Given the description of an element on the screen output the (x, y) to click on. 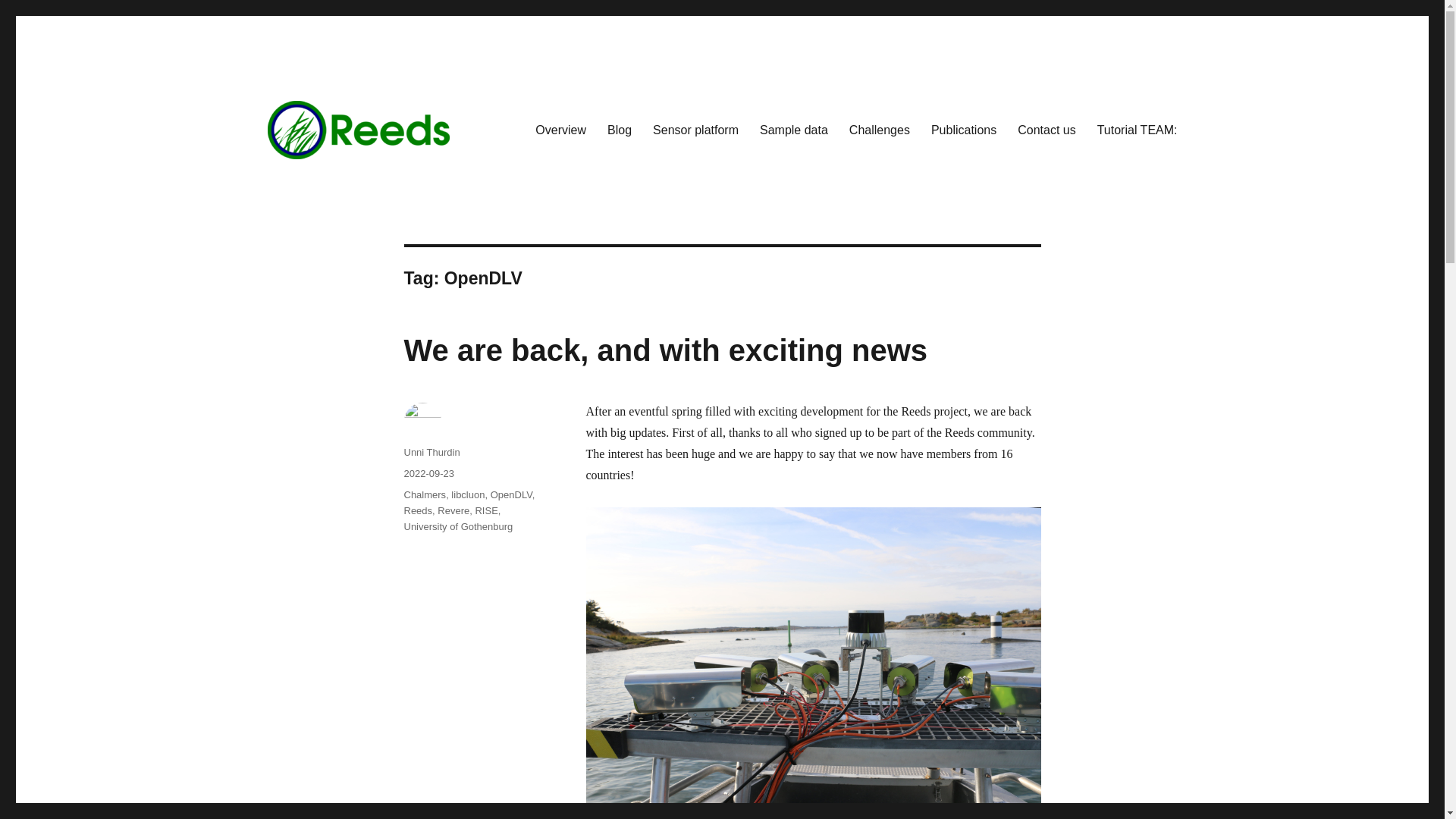
Sample data (793, 129)
Revere (453, 510)
Challenges (879, 129)
The Reeds dataset (360, 182)
Contact us (1046, 129)
Tutorial TEAM: (1137, 129)
Overview (560, 129)
OpenDLV (511, 494)
University of Gothenburg (457, 526)
Publications (963, 129)
